Given the description of an element on the screen output the (x, y) to click on. 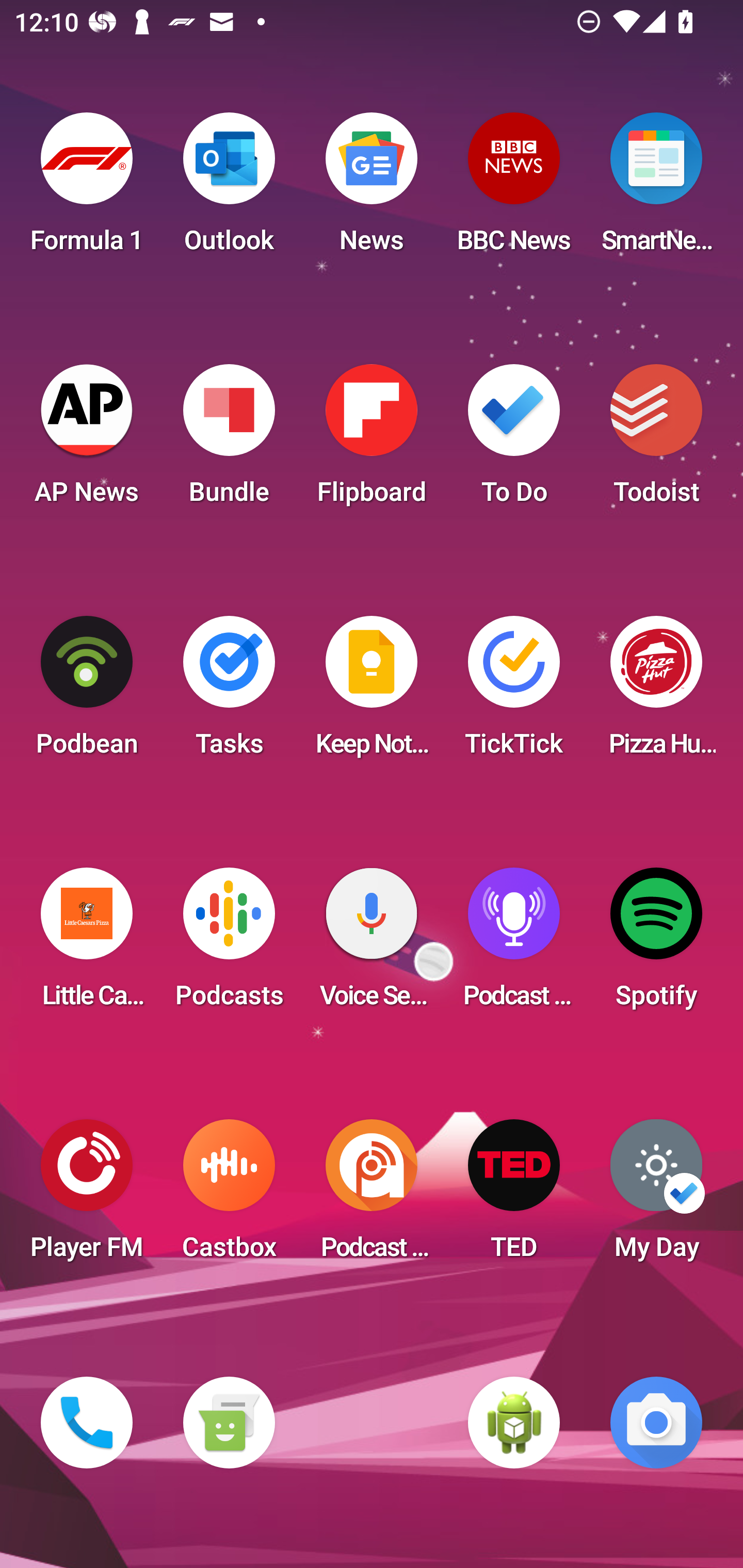
Formula 1 (86, 188)
Outlook (228, 188)
News (371, 188)
BBC News (513, 188)
SmartNews (656, 188)
AP News (86, 440)
Bundle (228, 440)
Flipboard (371, 440)
To Do (513, 440)
Todoist (656, 440)
Podbean (86, 692)
Tasks (228, 692)
Keep Notes (371, 692)
TickTick (513, 692)
Pizza Hut HK & Macau (656, 692)
Little Caesars Pizza (86, 943)
Podcasts (228, 943)
Voice Search (371, 943)
Podcast Player (513, 943)
Spotify (656, 943)
Player FM (86, 1195)
Castbox (228, 1195)
Podcast Addict (371, 1195)
TED (513, 1195)
My Day (656, 1195)
Phone (86, 1422)
Messaging (228, 1422)
WebView Browser Tester (513, 1422)
Camera (656, 1422)
